Given the description of an element on the screen output the (x, y) to click on. 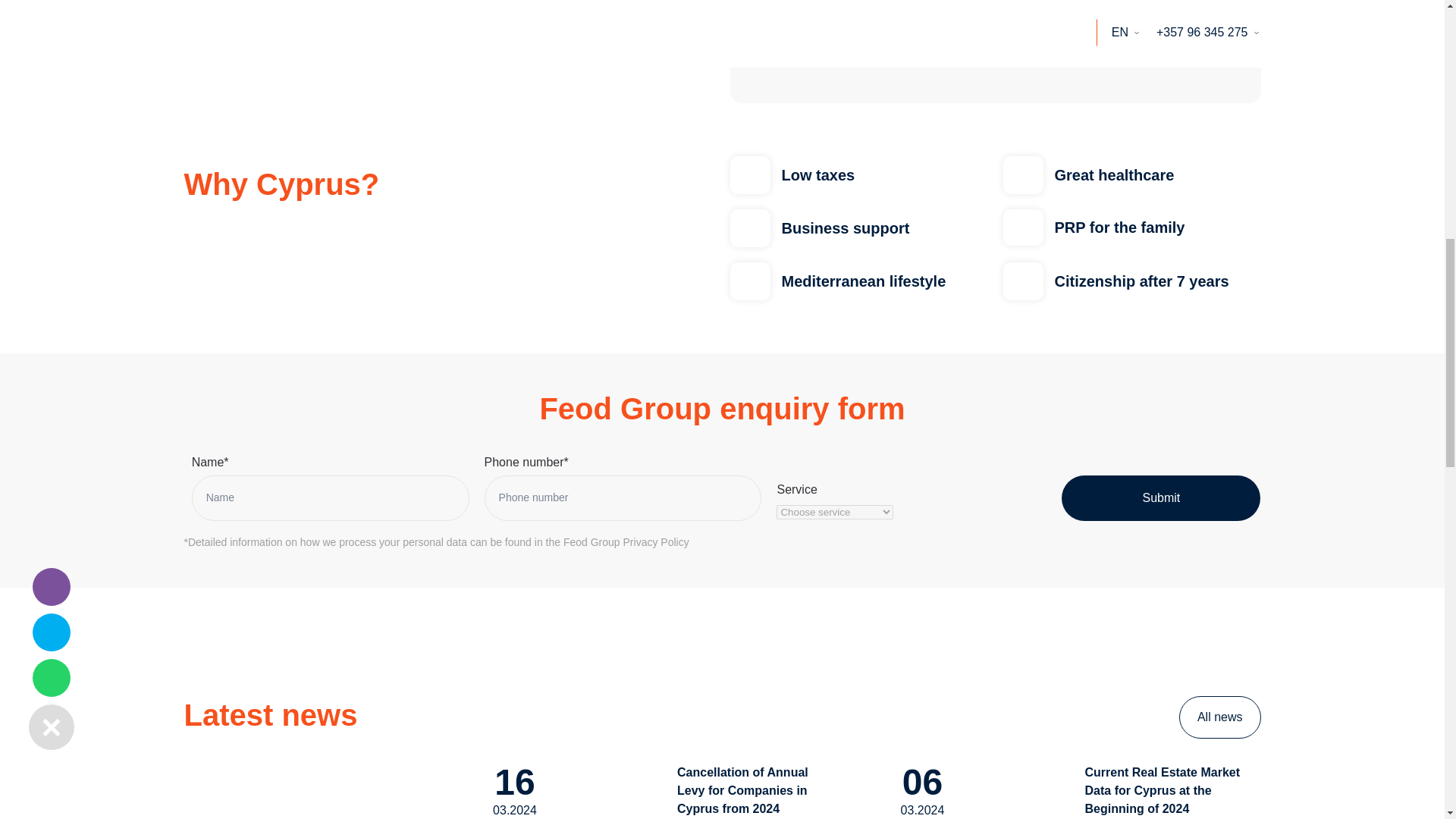
Submit (1160, 497)
All news (1219, 717)
Submit (1160, 497)
Learn more (232, 4)
